Given the description of an element on the screen output the (x, y) to click on. 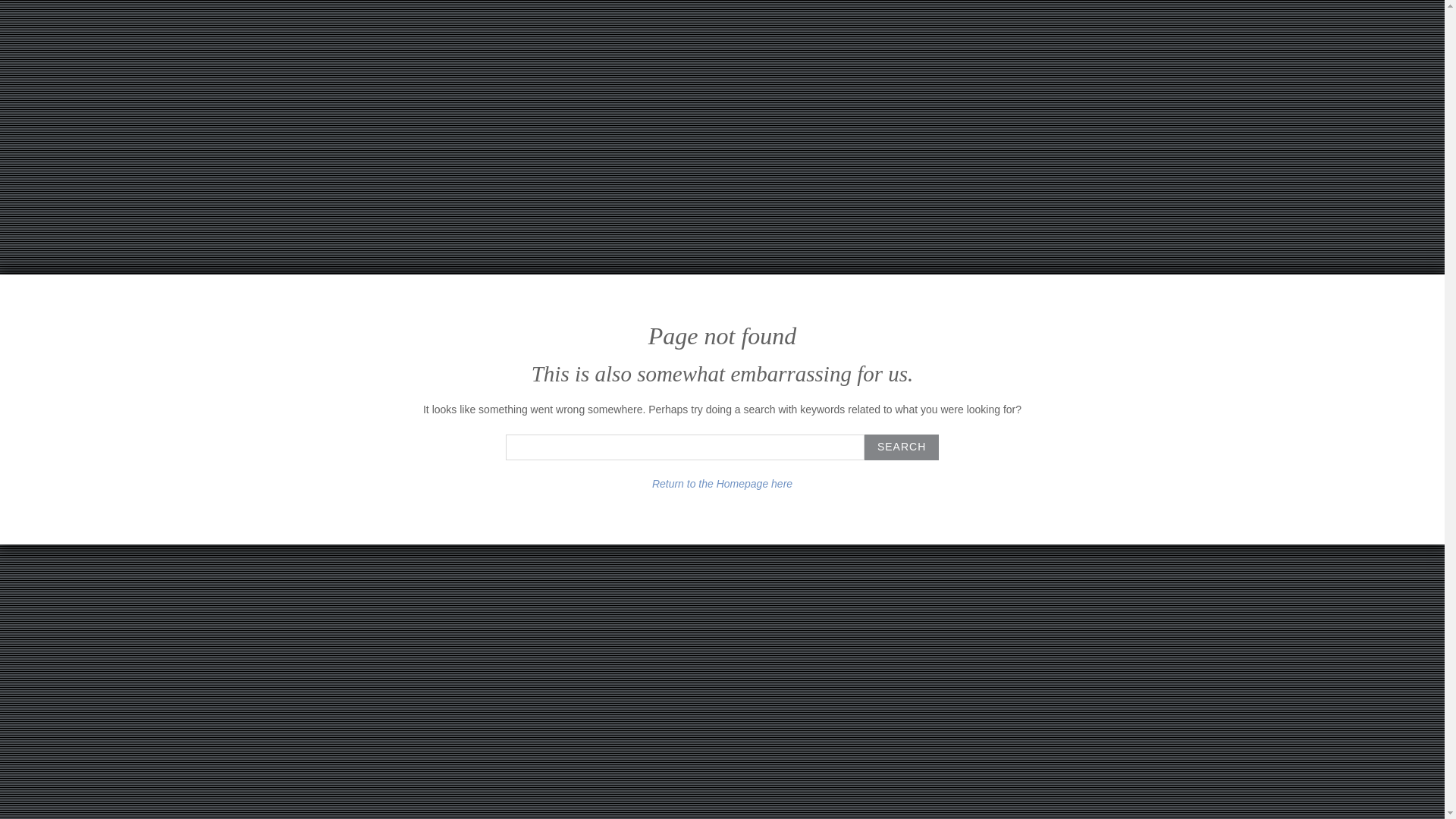
Return to the Homepage here (722, 483)
Search (901, 447)
Search (901, 447)
